Given the description of an element on the screen output the (x, y) to click on. 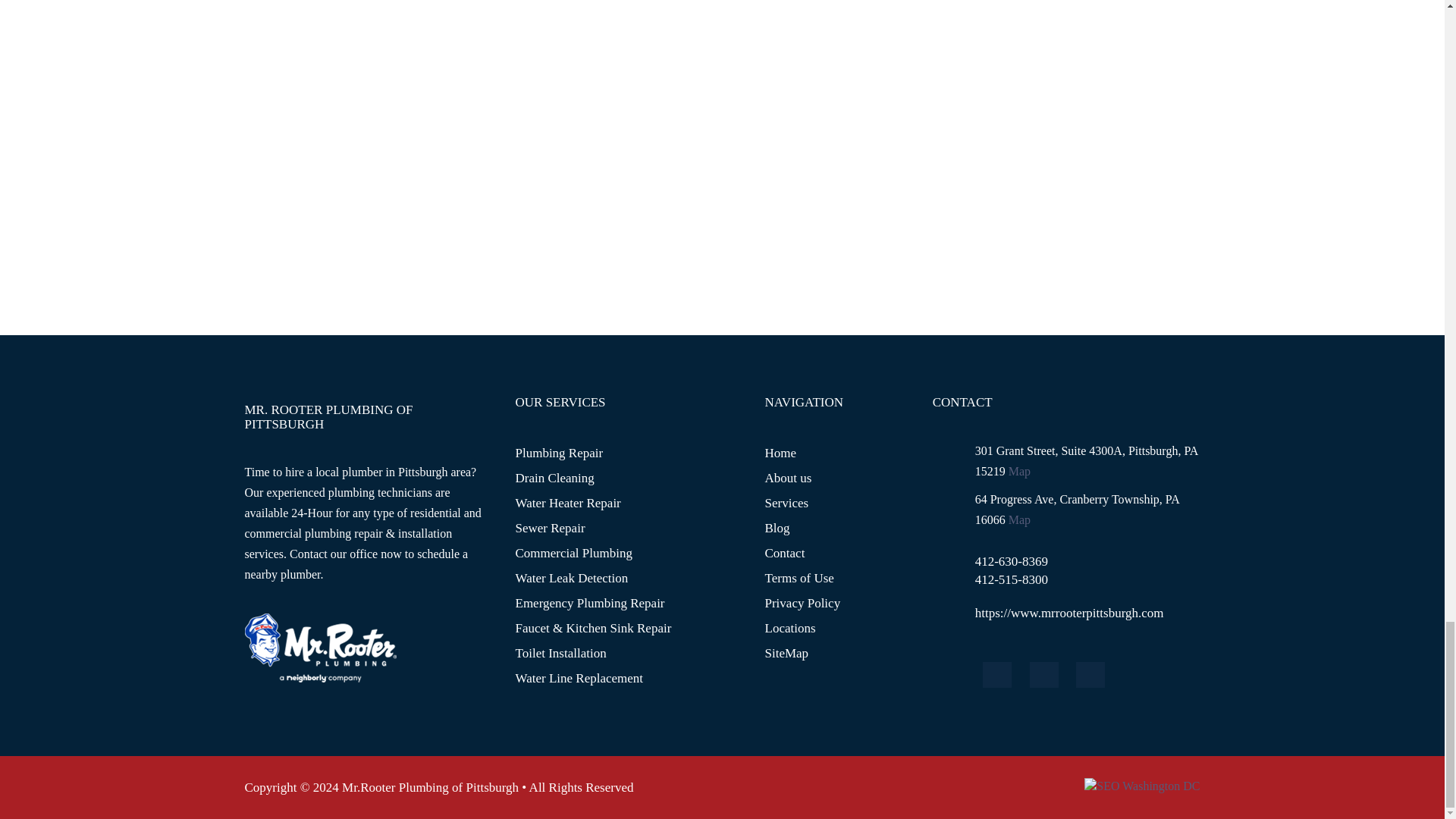
Plumber Pittsburgh (1019, 471)
Mr Rooter Plumbing of Pittsburgh (320, 645)
SEO Washington DC (1141, 784)
Mr. Rooter Plumbing (1019, 519)
